Given the description of an element on the screen output the (x, y) to click on. 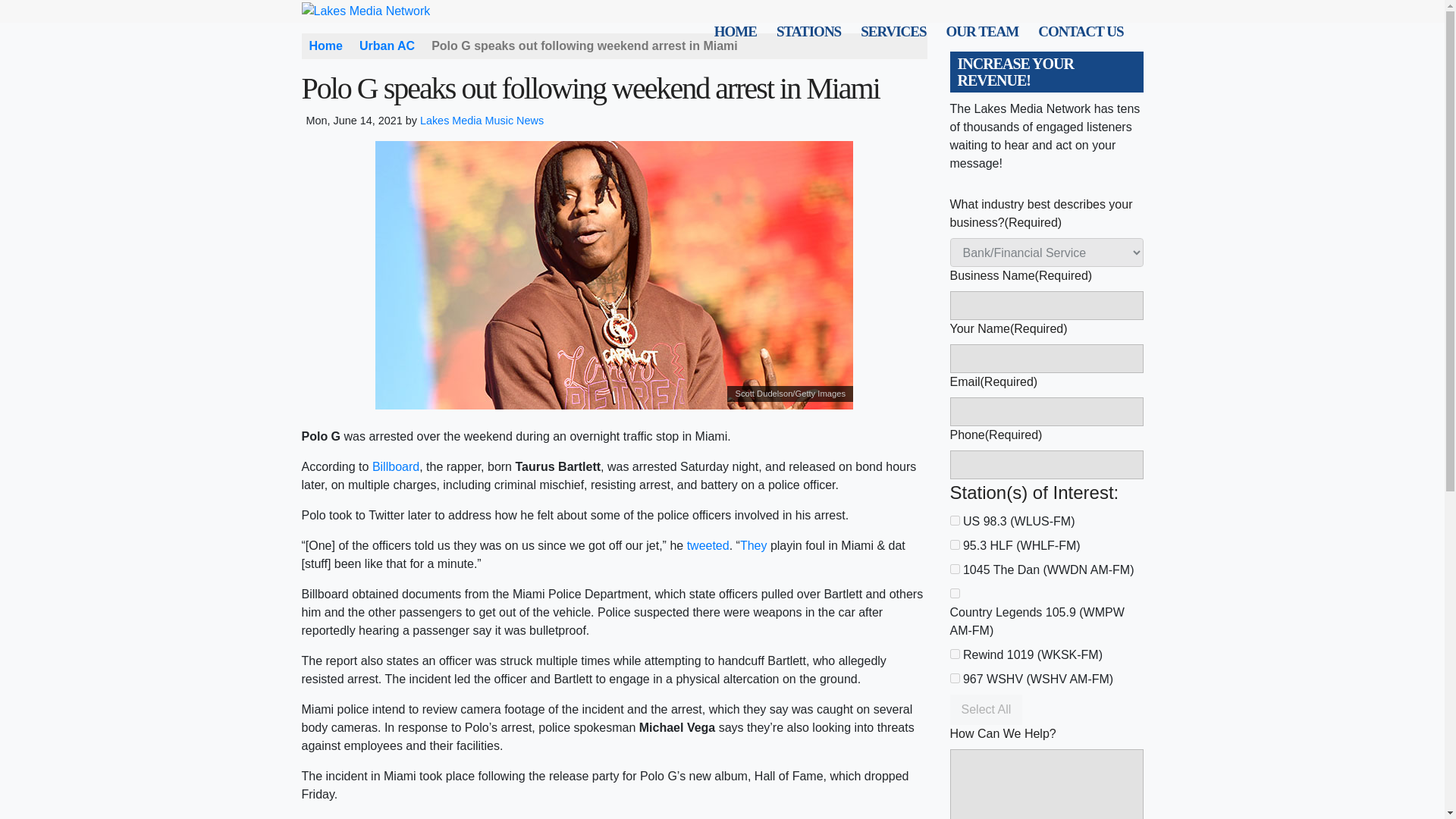
HOME (734, 31)
STATIONS (808, 31)
Lakes Media Network (376, 10)
Posts by Lakes Media Music News (481, 120)
